Given the description of an element on the screen output the (x, y) to click on. 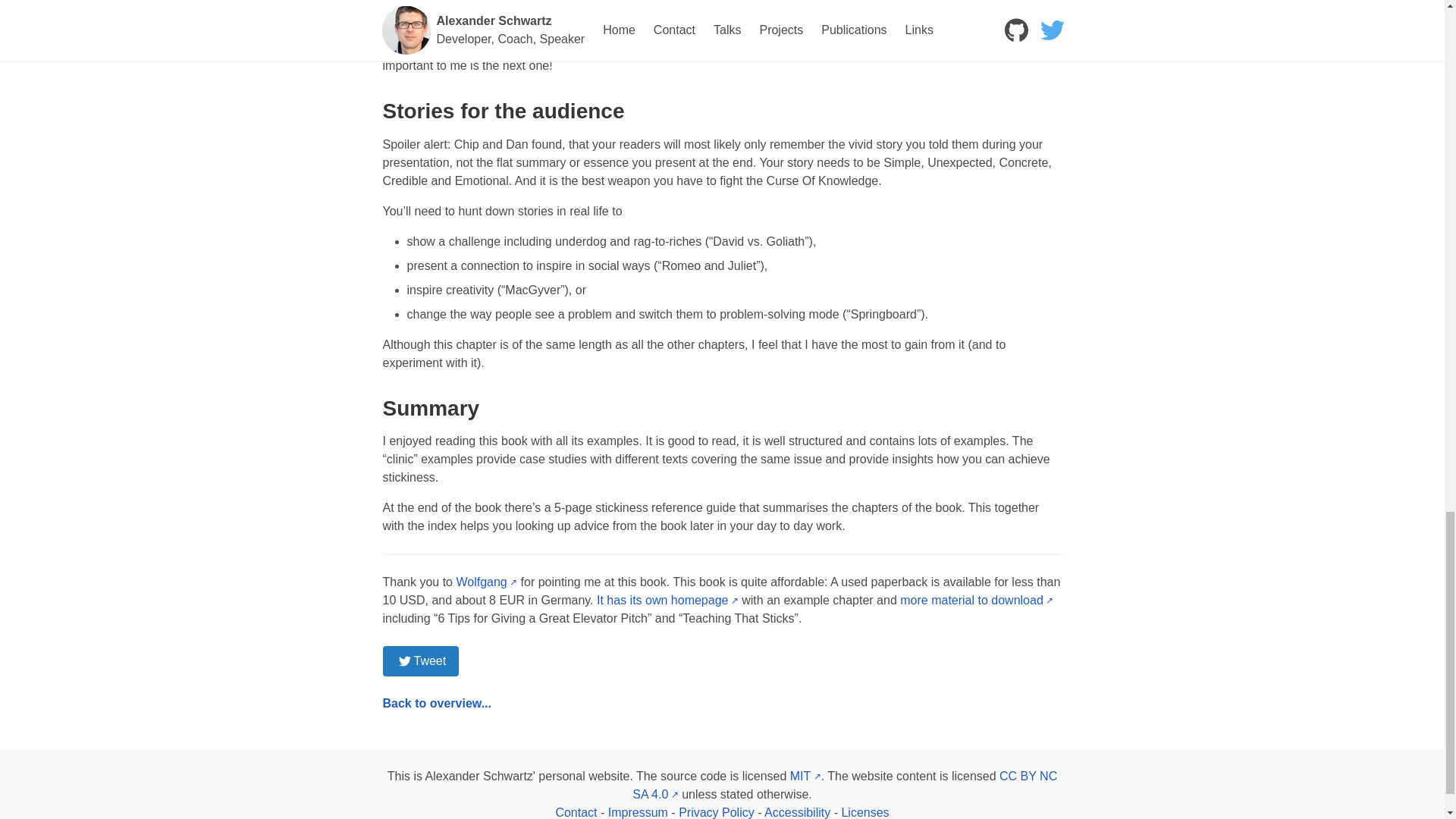
Tweet (419, 661)
CC BY NC SA 4.0 (844, 784)
Wolfgang (485, 581)
Back to overview... (435, 703)
It has its own homepage (667, 599)
more material to download (975, 599)
Twitter (419, 661)
MIT (805, 775)
